Given the description of an element on the screen output the (x, y) to click on. 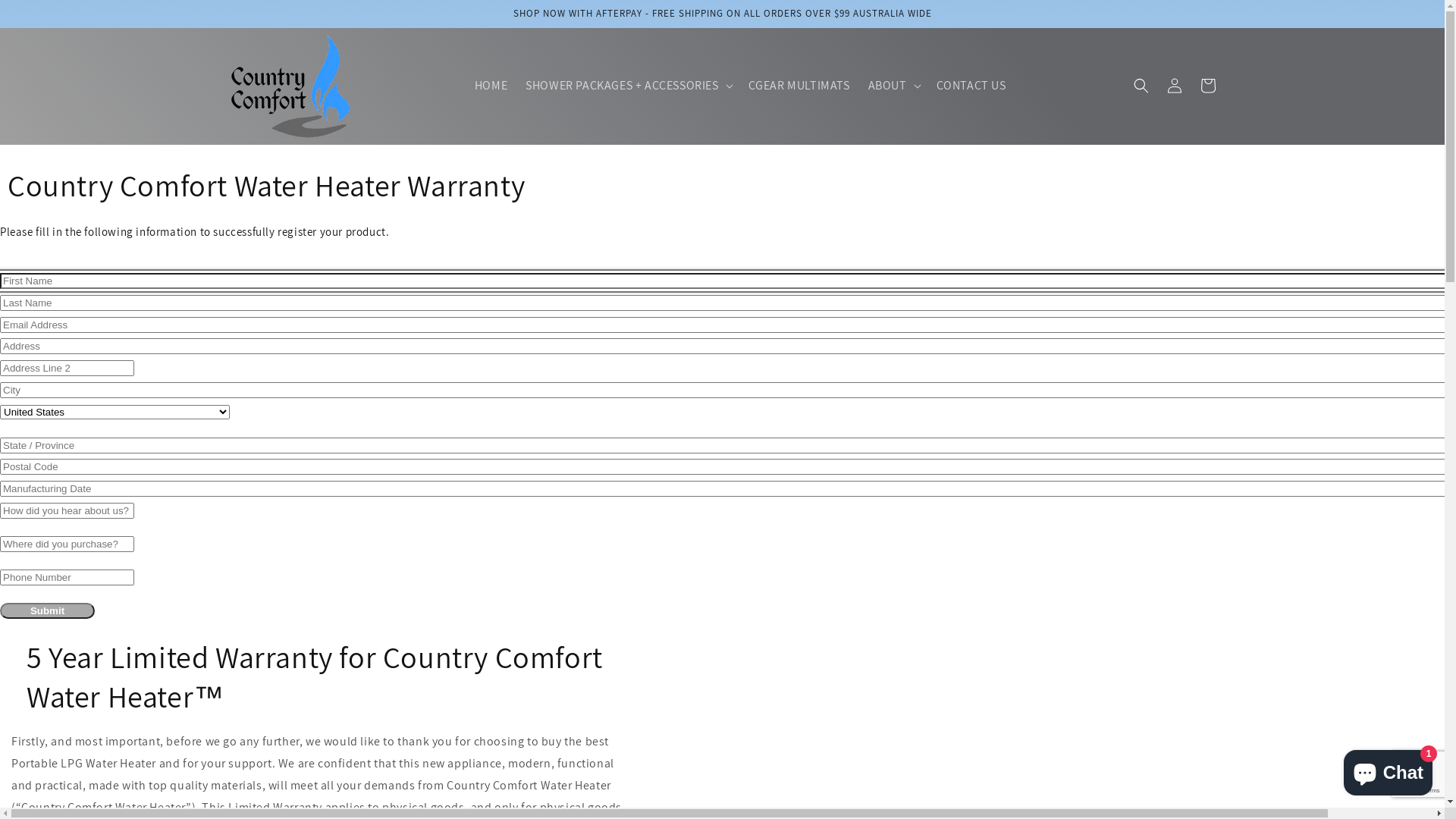
CONTACT US Element type: text (971, 86)
Submit Element type: text (47, 610)
Shopify online store chat Element type: hover (1388, 769)
CGEAR MULTIMATS Element type: text (799, 86)
Cart Element type: text (1206, 85)
HOME Element type: text (490, 86)
Log in Element type: text (1173, 85)
